Given the description of an element on the screen output the (x, y) to click on. 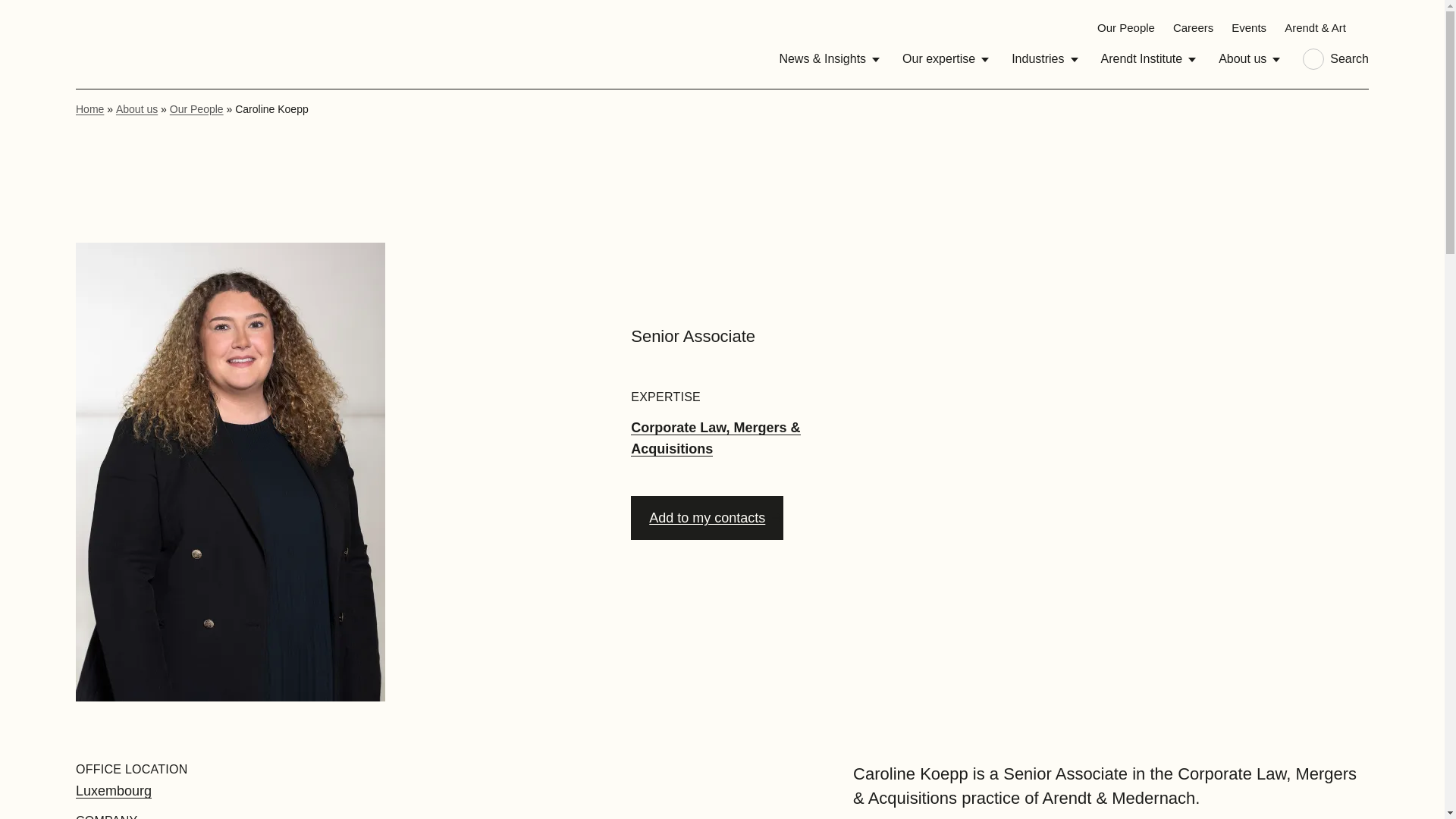
Our expertise (945, 59)
Events (1248, 27)
Arendt Go to home page (111, 43)
Our People (1125, 27)
Careers (1192, 27)
